Given the description of an element on the screen output the (x, y) to click on. 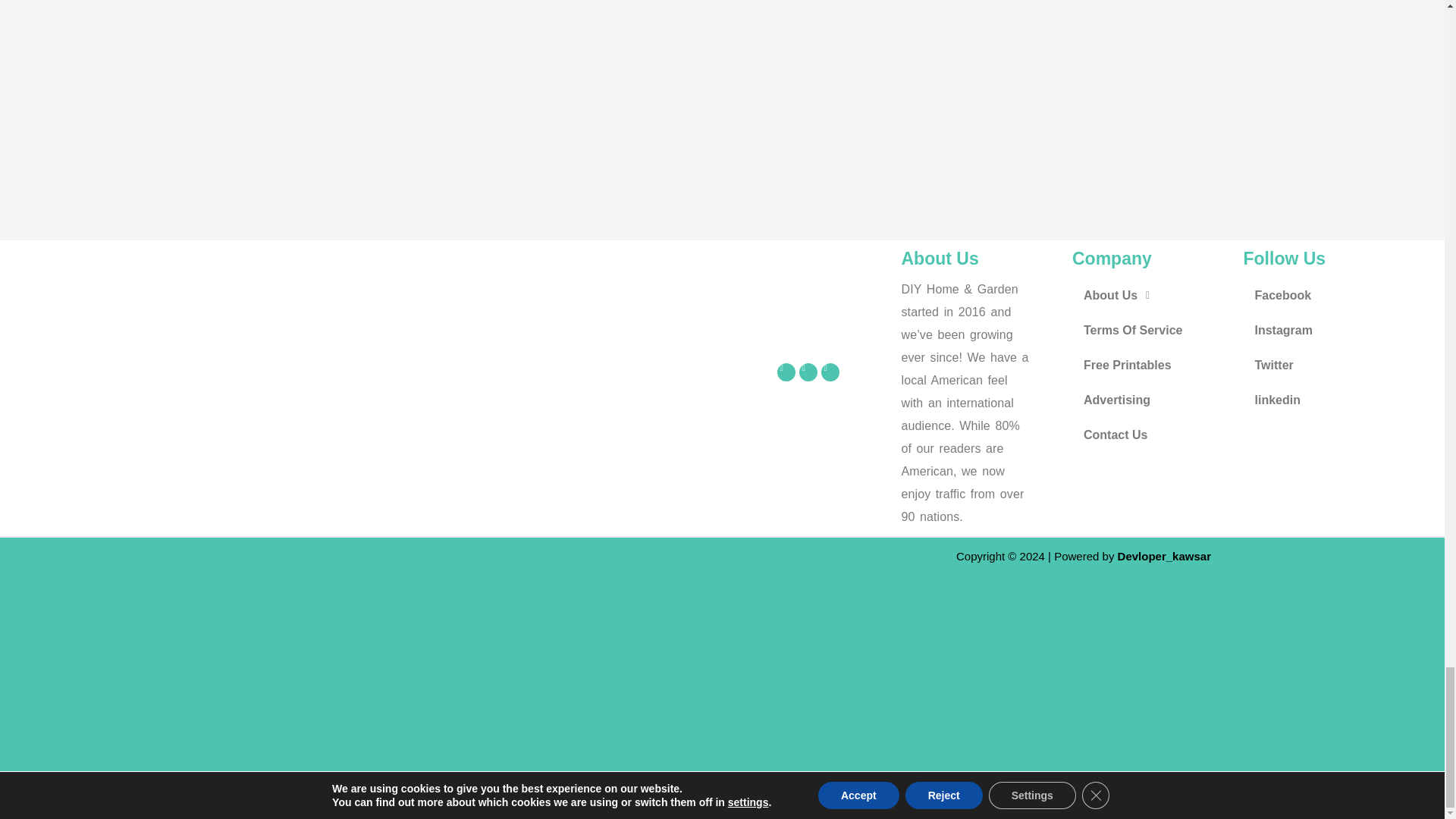
Contact Us (1149, 434)
Instagram (1321, 330)
About Us (1149, 295)
Twitter (807, 372)
Advertising (1149, 400)
Terms Of Service (1149, 330)
Free Printables (1149, 365)
Twitter (1321, 365)
Youtube (830, 372)
Facebook-f (785, 372)
